Given the description of an element on the screen output the (x, y) to click on. 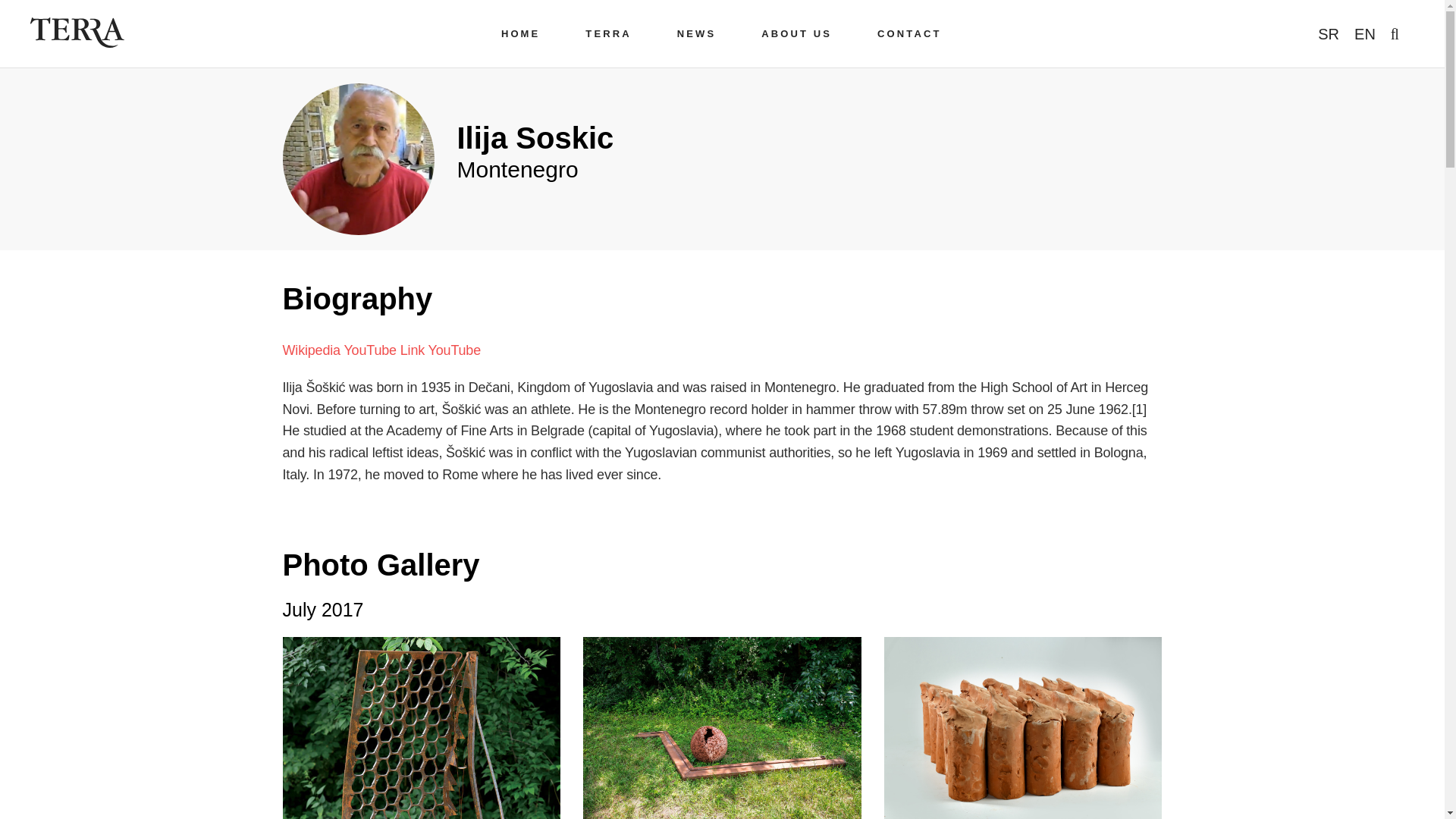
EN (1364, 33)
NEWS (696, 33)
YouTube (369, 350)
CONTACT (908, 33)
YouTube (454, 350)
ABOUT US (796, 33)
HOME (520, 33)
Wikipedia (310, 350)
SR (1328, 33)
Link (412, 350)
TERRA (608, 33)
